Given the description of an element on the screen output the (x, y) to click on. 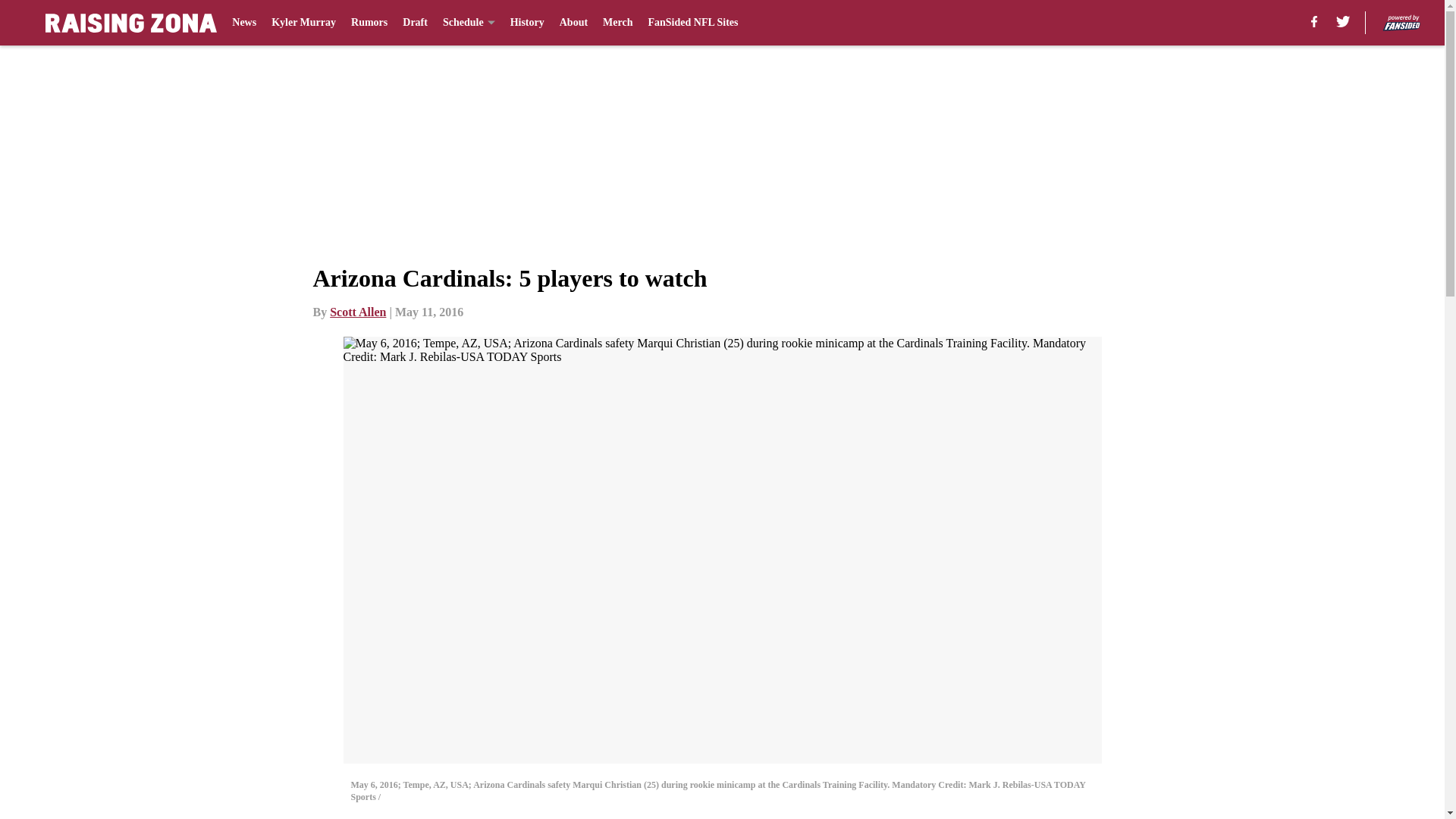
History (527, 22)
FanSided NFL Sites (692, 22)
Draft (415, 22)
News (243, 22)
Rumors (368, 22)
Merch (616, 22)
Kyler Murray (303, 22)
Scott Allen (357, 311)
About (573, 22)
